Given the description of an element on the screen output the (x, y) to click on. 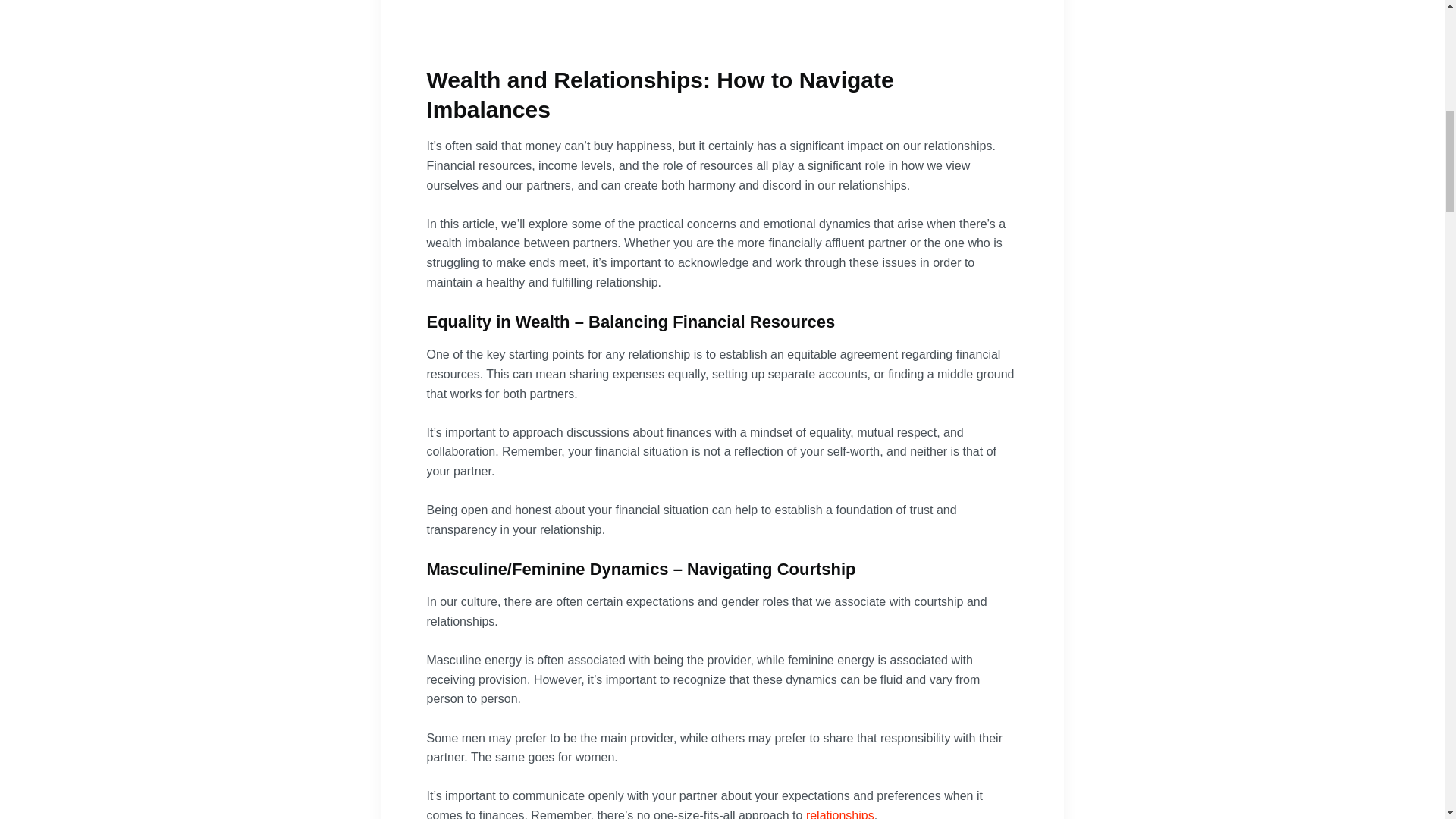
relationships (840, 814)
